Given the description of an element on the screen output the (x, y) to click on. 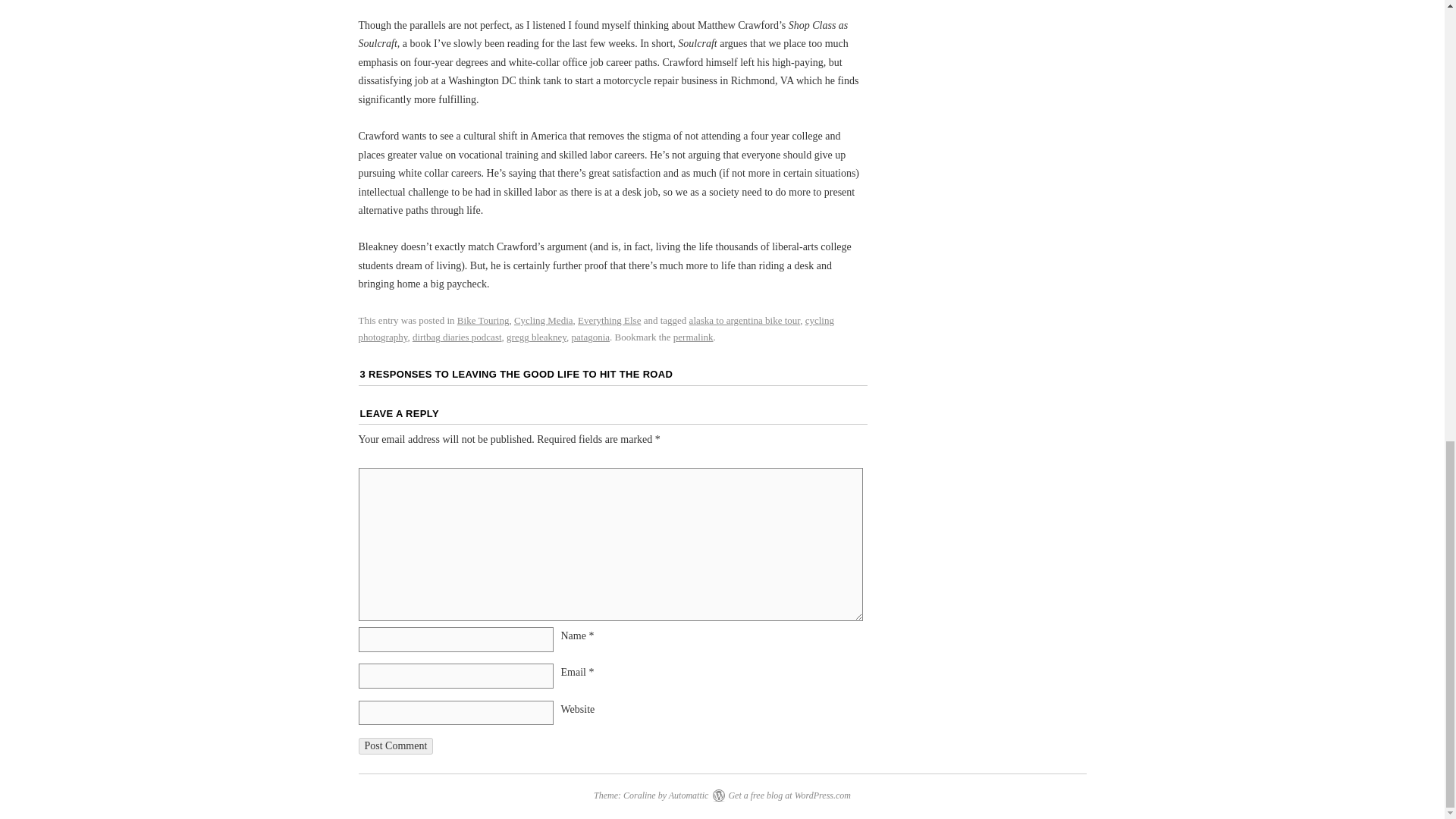
gregg bleakney (536, 337)
cycling photography (595, 328)
Permalink to Leaving the Good Life to Hit The Road (692, 337)
permalink (692, 337)
Post Comment (395, 745)
Cycling Media (543, 319)
patagonia (591, 337)
Bike Touring (483, 319)
dirtbag diaries podcast (457, 337)
alaska to argentina bike tour (744, 319)
Post Comment (395, 745)
Everything Else (609, 319)
